Given the description of an element on the screen output the (x, y) to click on. 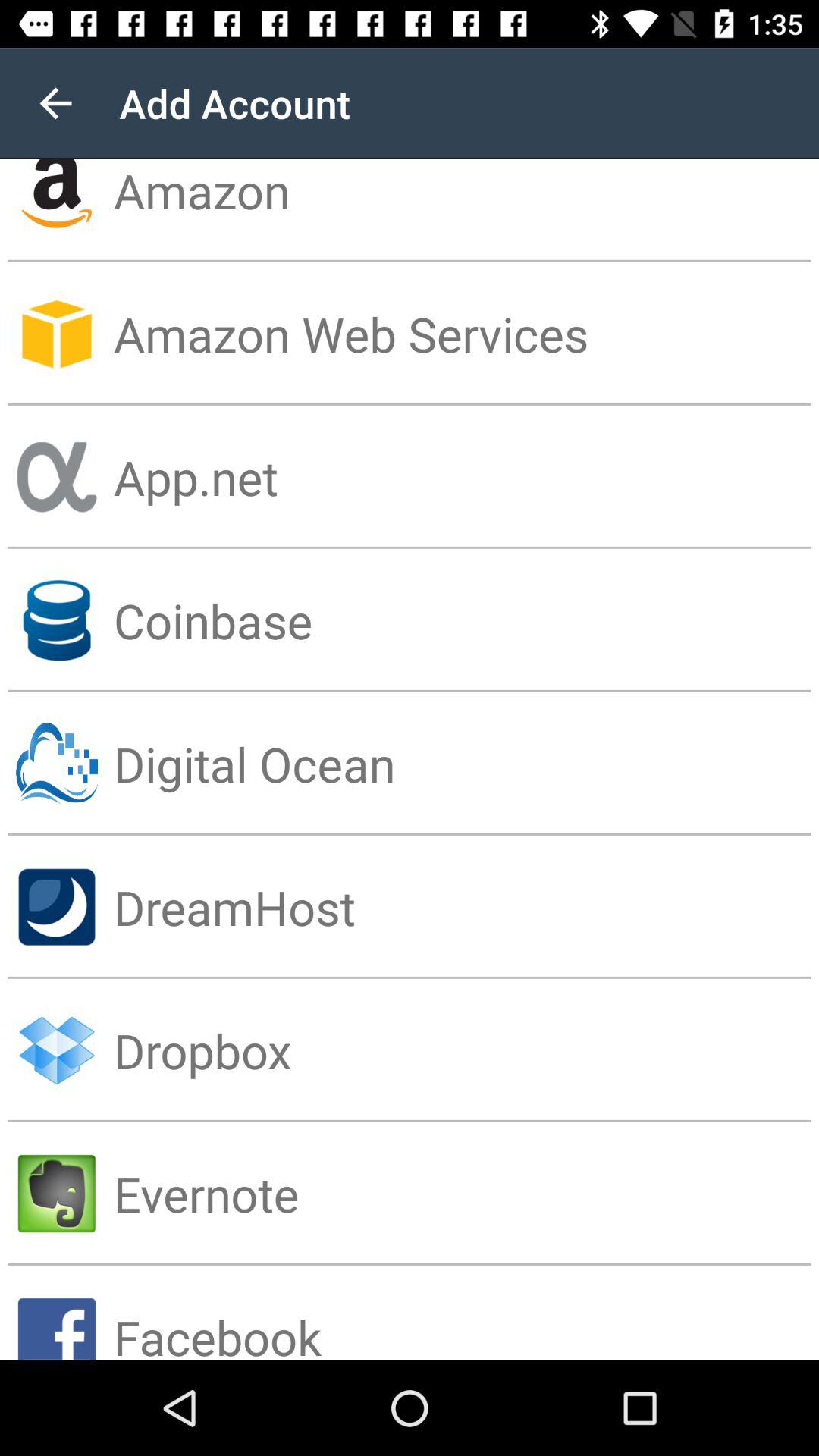
swipe to the facebook item (466, 1312)
